Given the description of an element on the screen output the (x, y) to click on. 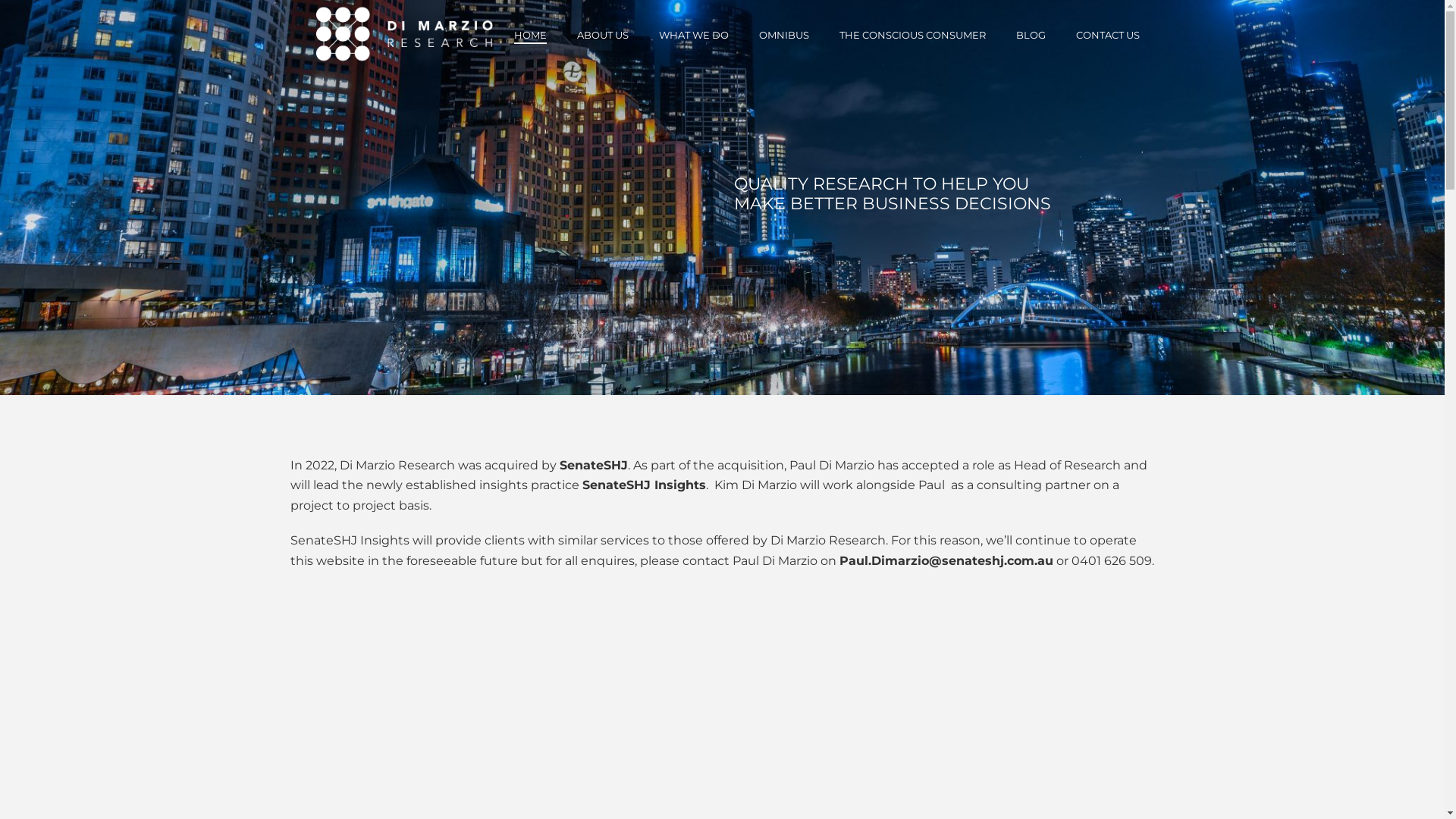
SenateSHJ Element type: text (593, 465)
CONTACT US Element type: text (1107, 34)
SenateSHJ Insights Element type: text (348, 540)
SenateSHJ Insights Element type: text (644, 484)
THE CONSCIOUS CONSUMER Element type: text (911, 34)
Paul.Dimarzio@senateshj.com.au Element type: text (945, 560)
ABOUT US Element type: text (602, 34)
HOME Element type: text (529, 34)
BLOG Element type: text (1030, 34)
OMNIBUS Element type: text (783, 34)
WHAT WE DO Element type: text (693, 34)
